Given the description of an element on the screen output the (x, y) to click on. 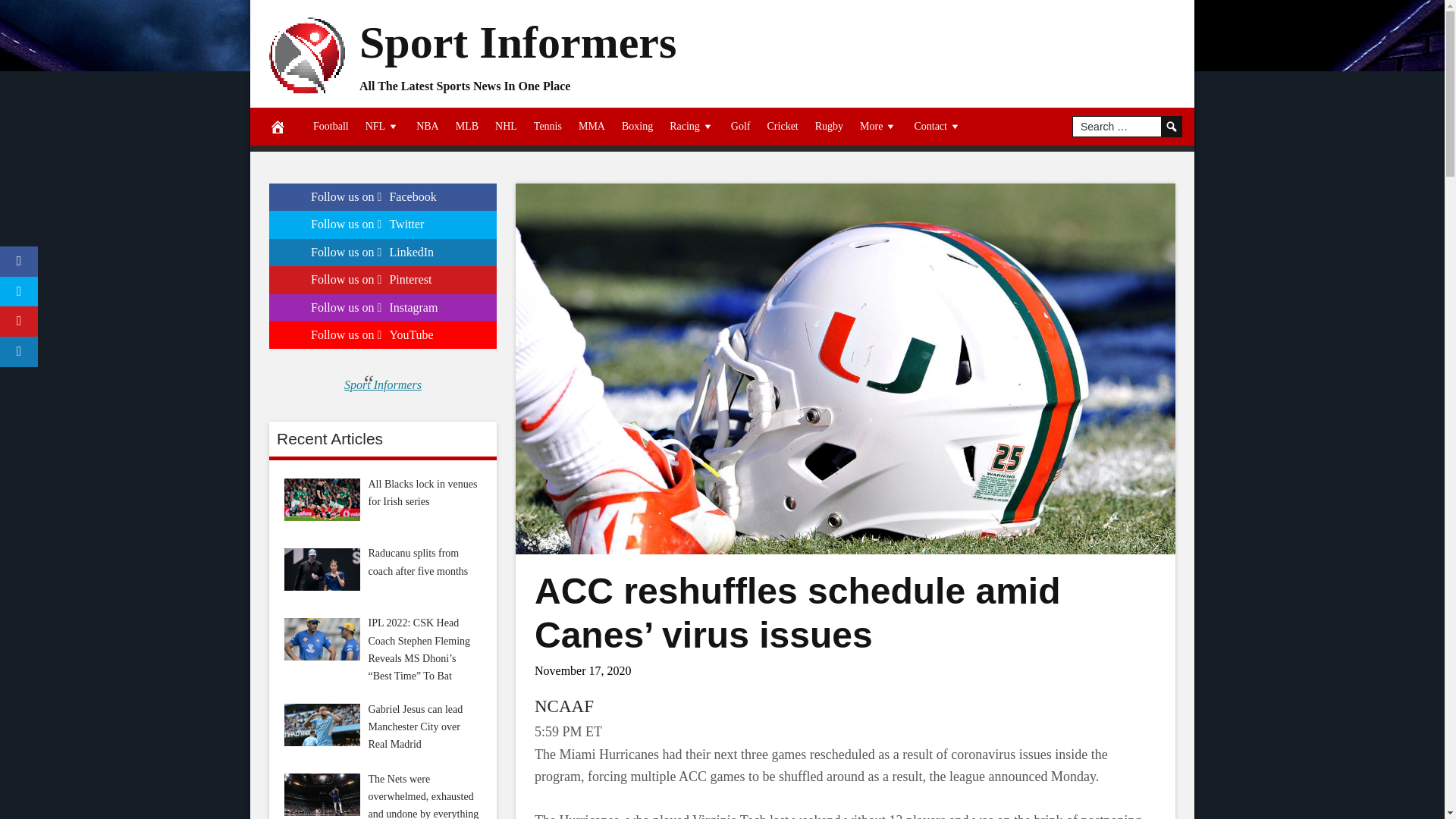
NCAAF (564, 705)
NBA (426, 126)
NHL (505, 126)
MLB (466, 126)
Football (330, 126)
NFL (381, 126)
Sport Informers (518, 41)
